Given the description of an element on the screen output the (x, y) to click on. 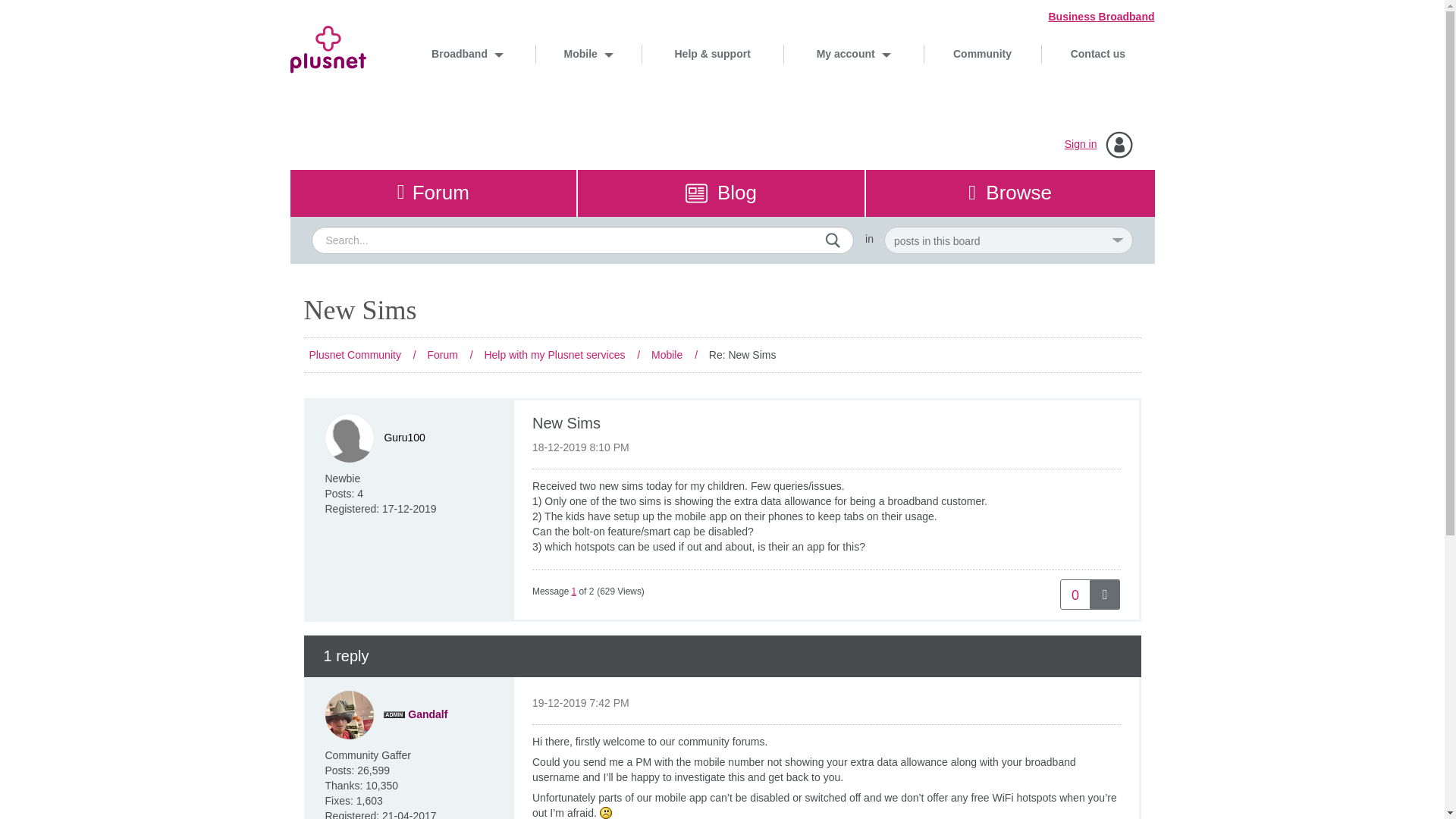
Search (582, 239)
Browse (1010, 193)
My account (853, 53)
Gandalf (348, 715)
Guru100 (404, 437)
Help with my Plusnet services (554, 354)
Plusnet (327, 61)
Broadband (466, 53)
Business Broadband (1093, 16)
Sign in (1080, 143)
Search (832, 240)
Search (832, 240)
Contact us (1097, 53)
Search (832, 240)
Forum (442, 354)
